Given the description of an element on the screen output the (x, y) to click on. 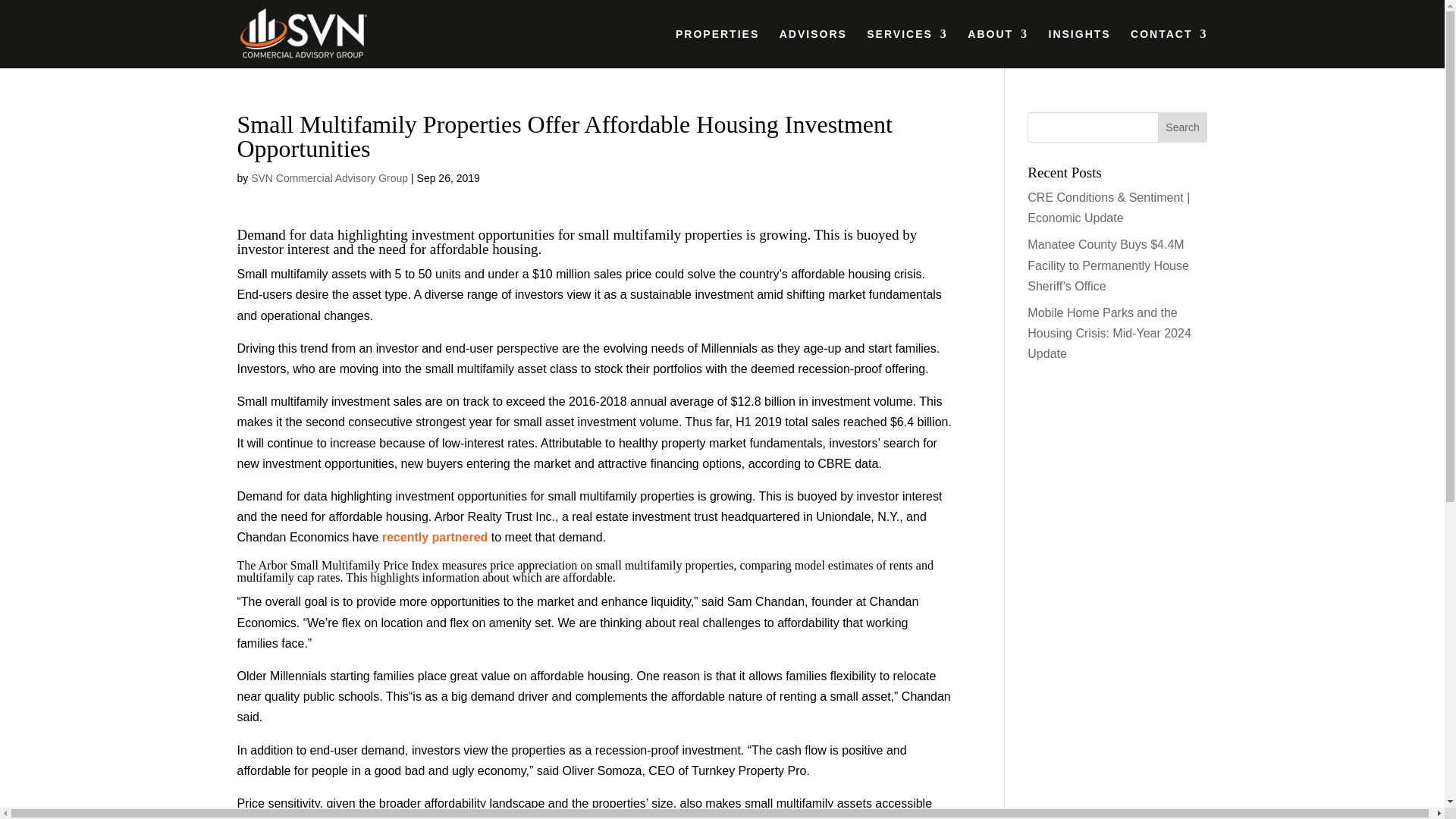
Search (1182, 127)
SERVICES (906, 47)
Posts by SVN Commercial Advisory Group (328, 177)
PROPERTIES (716, 47)
INSIGHTS (1079, 47)
CONTACT (1169, 47)
Search (1182, 127)
recently partnered (434, 536)
ABOUT (997, 47)
ADVISORS (812, 47)
